Given the description of an element on the screen output the (x, y) to click on. 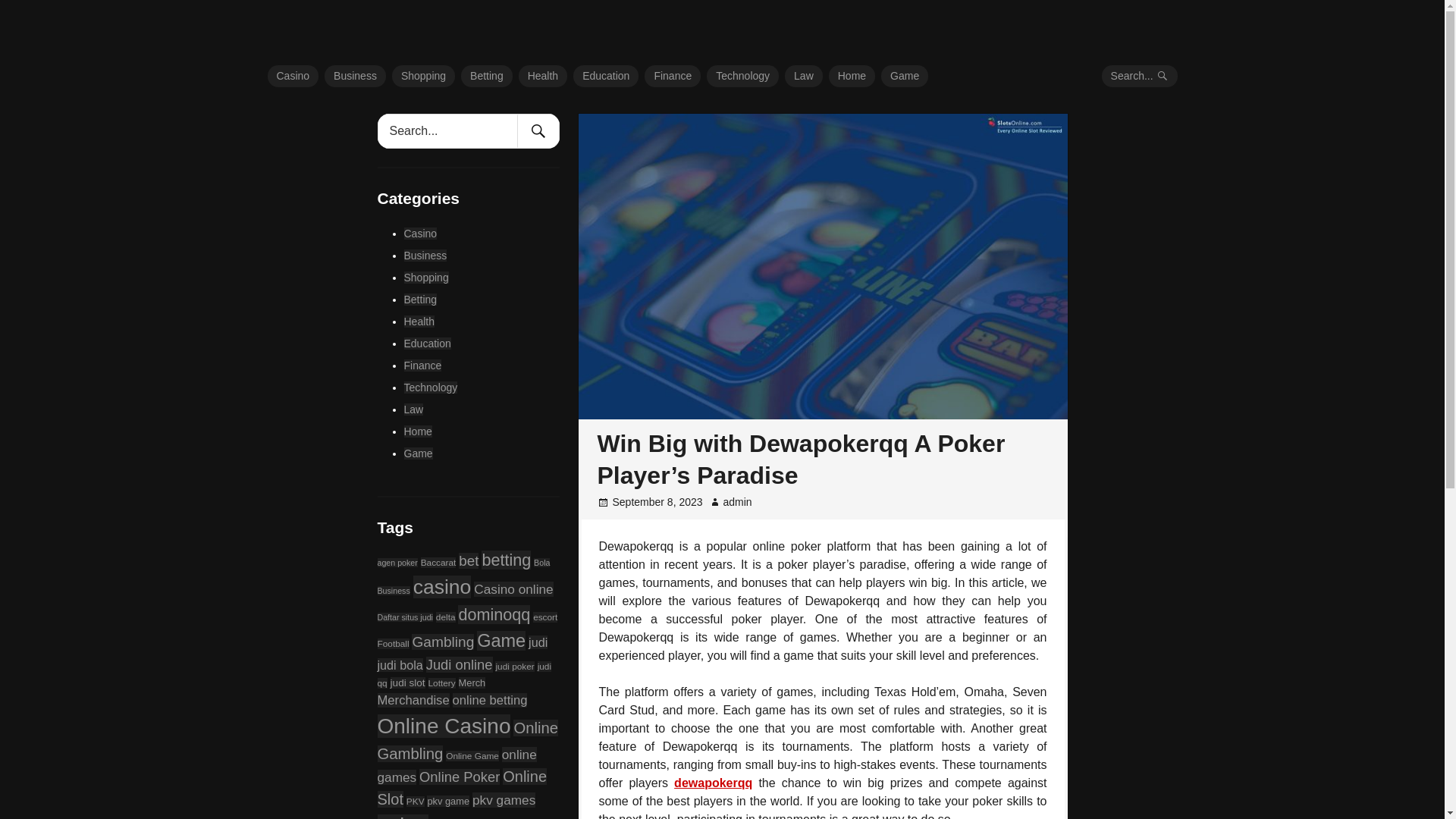
Search... (1139, 75)
Casino (419, 233)
Health (542, 75)
Home (851, 75)
September 8, 2023 (657, 501)
Game (904, 75)
Search Submit (537, 130)
Shopping (425, 277)
dewapokerqq (713, 782)
Betting (486, 75)
